Given the description of an element on the screen output the (x, y) to click on. 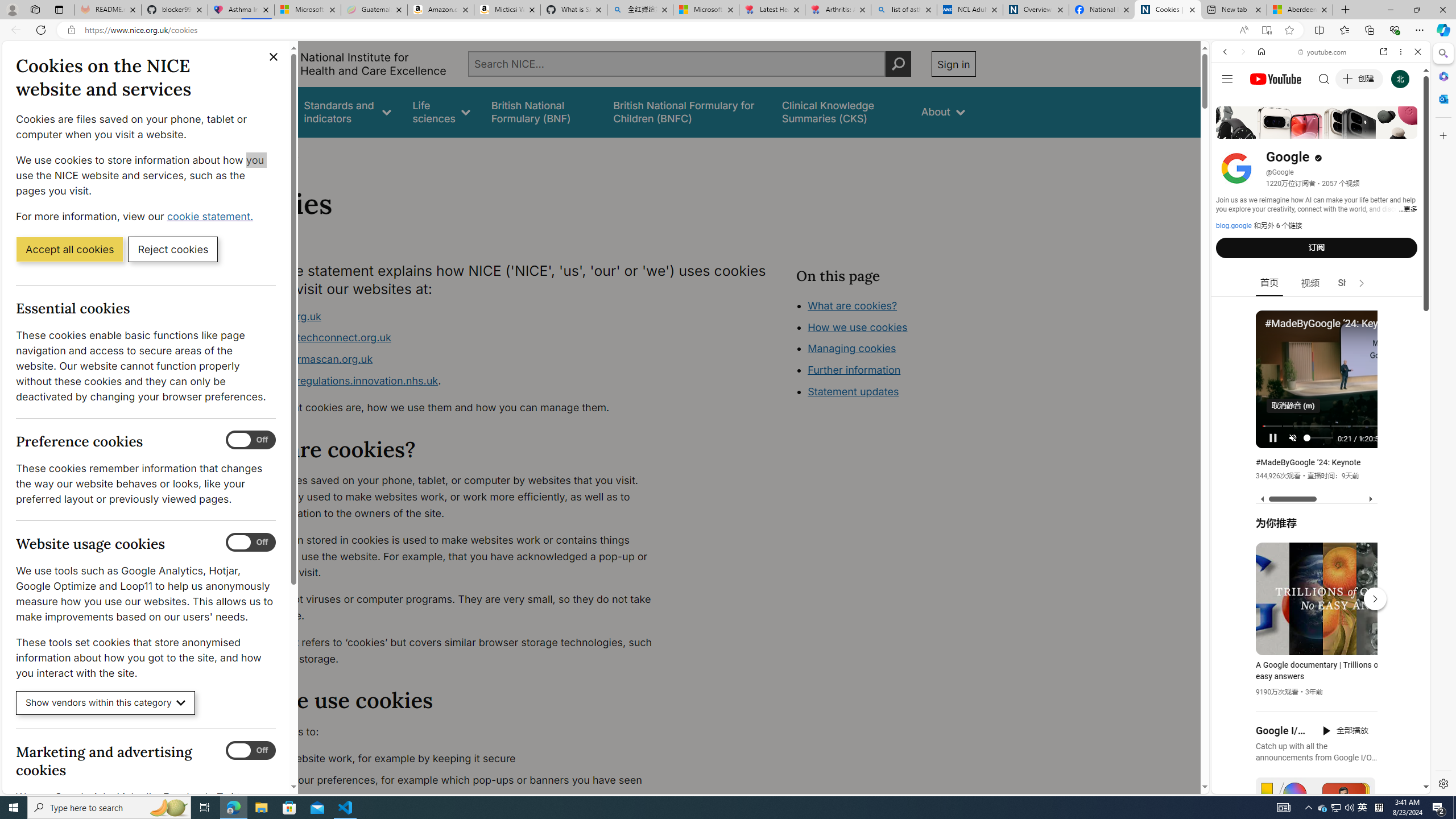
Side bar (1443, 418)
VIDEOS (1300, 130)
www.ukpharmascan.org.uk (305, 359)
Perform search (898, 63)
How we use cookies (896, 389)
Trailer #2 [HD] (1320, 337)
App bar (728, 29)
